Given the description of an element on the screen output the (x, y) to click on. 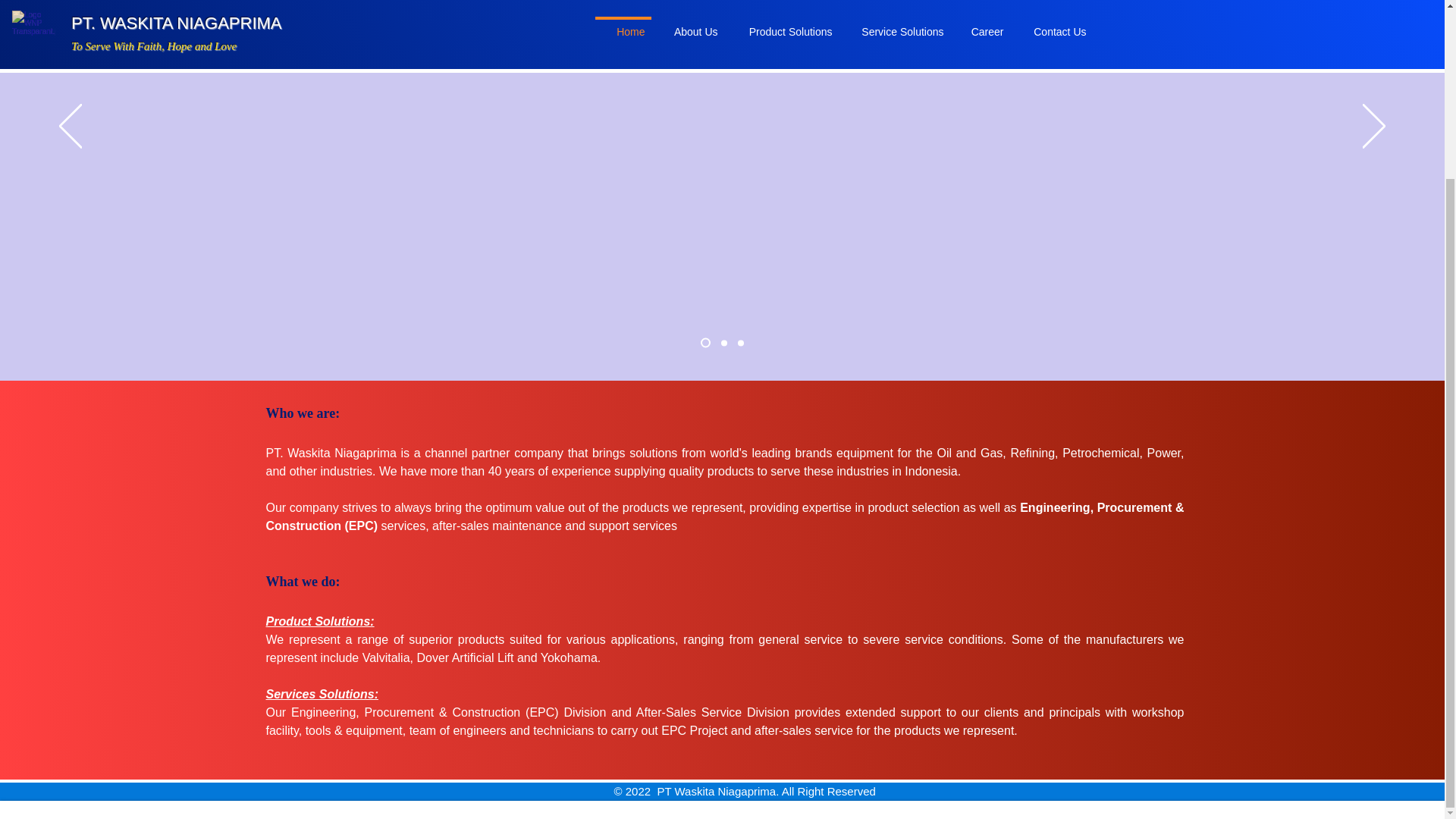
Services Solutions: (321, 694)
Product Solutions: (319, 621)
